Given the description of an element on the screen output the (x, y) to click on. 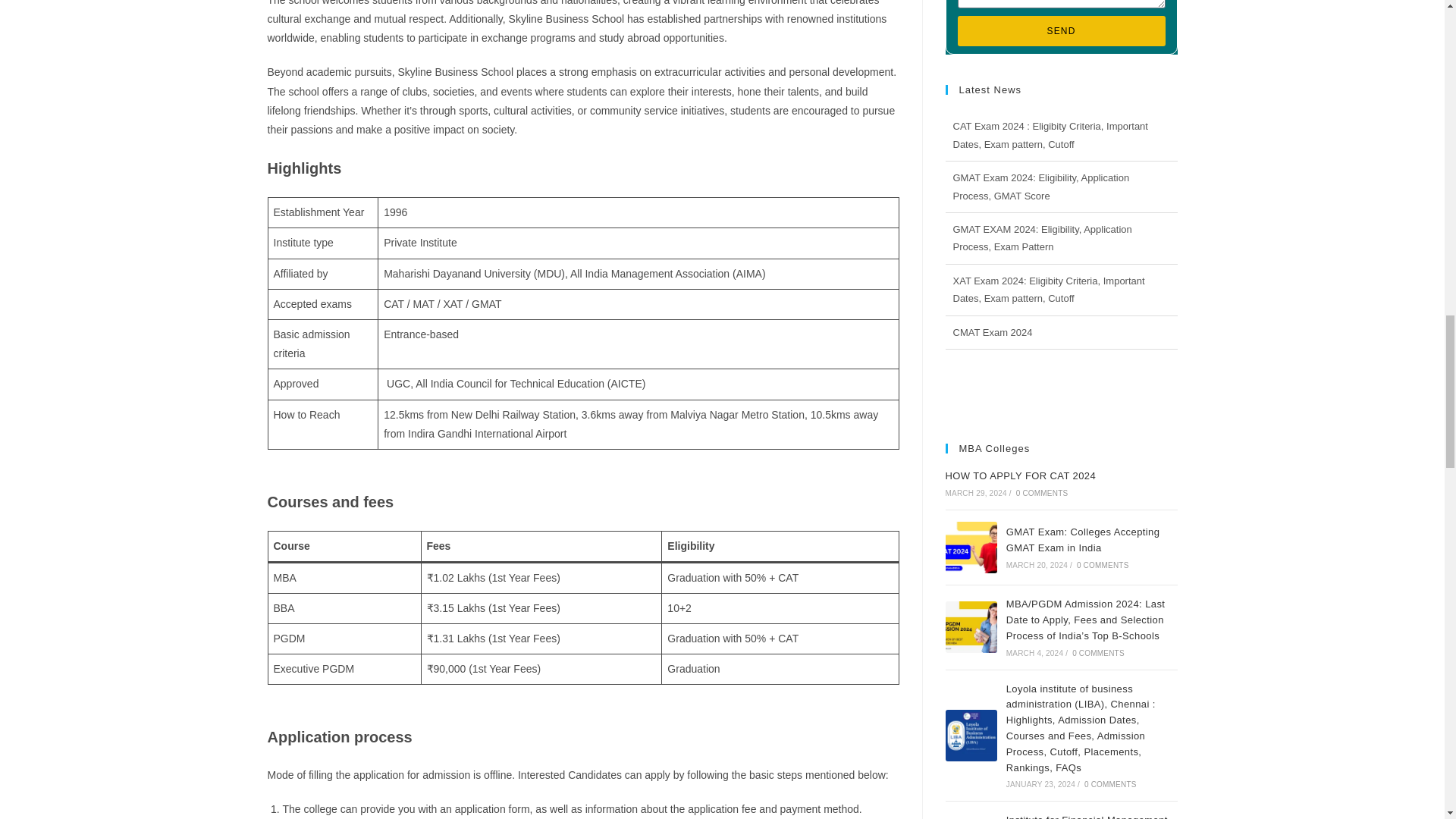
GMAT Exam: Colleges Accepting GMAT Exam in India (969, 547)
